Given the description of an element on the screen output the (x, y) to click on. 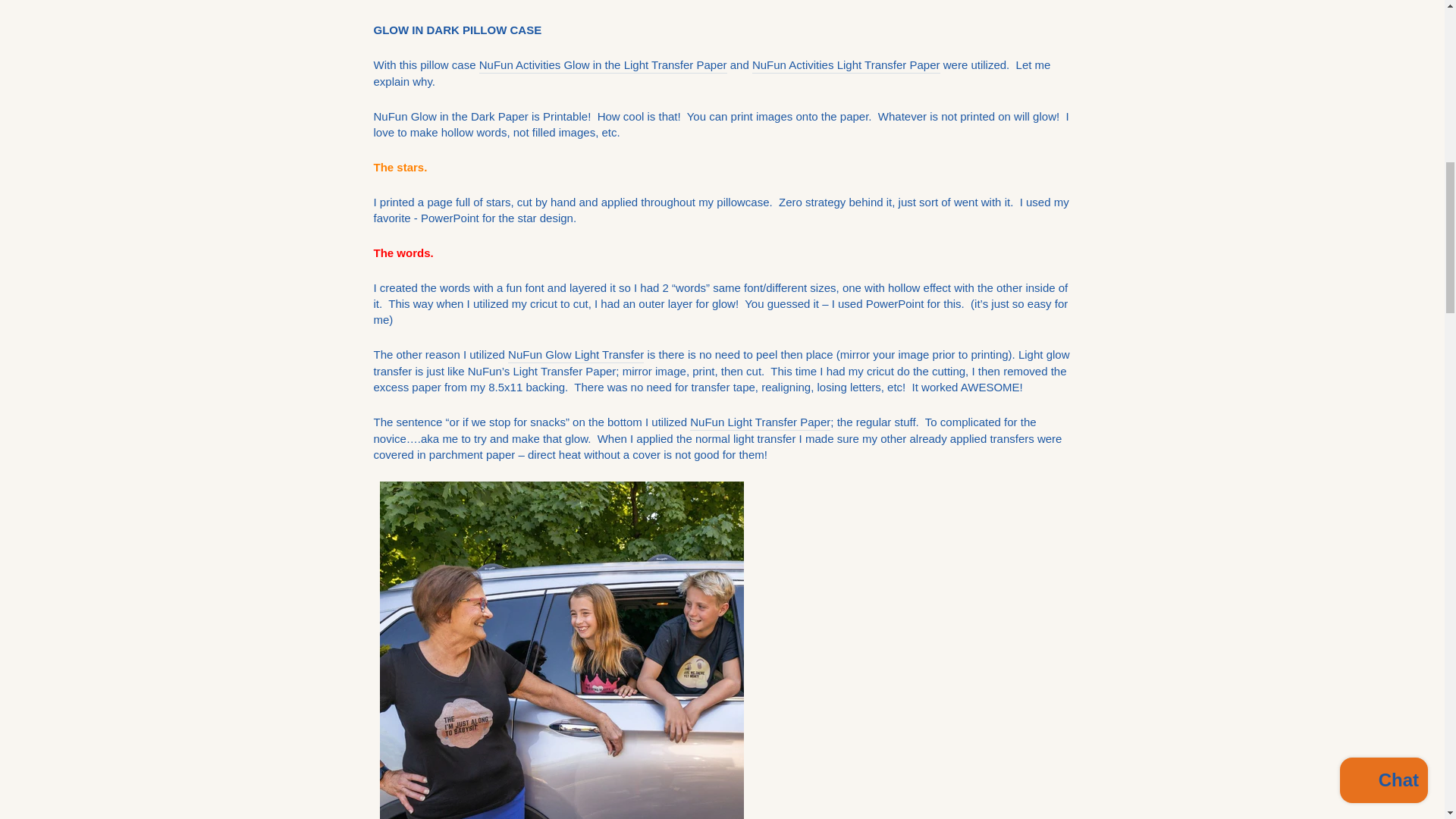
Glow in dark (575, 354)
NuFun DIY Light Transfer Paper (759, 422)
Light Transfer Paper (846, 64)
Glow Transfer Paper (602, 64)
